Given the description of an element on the screen output the (x, y) to click on. 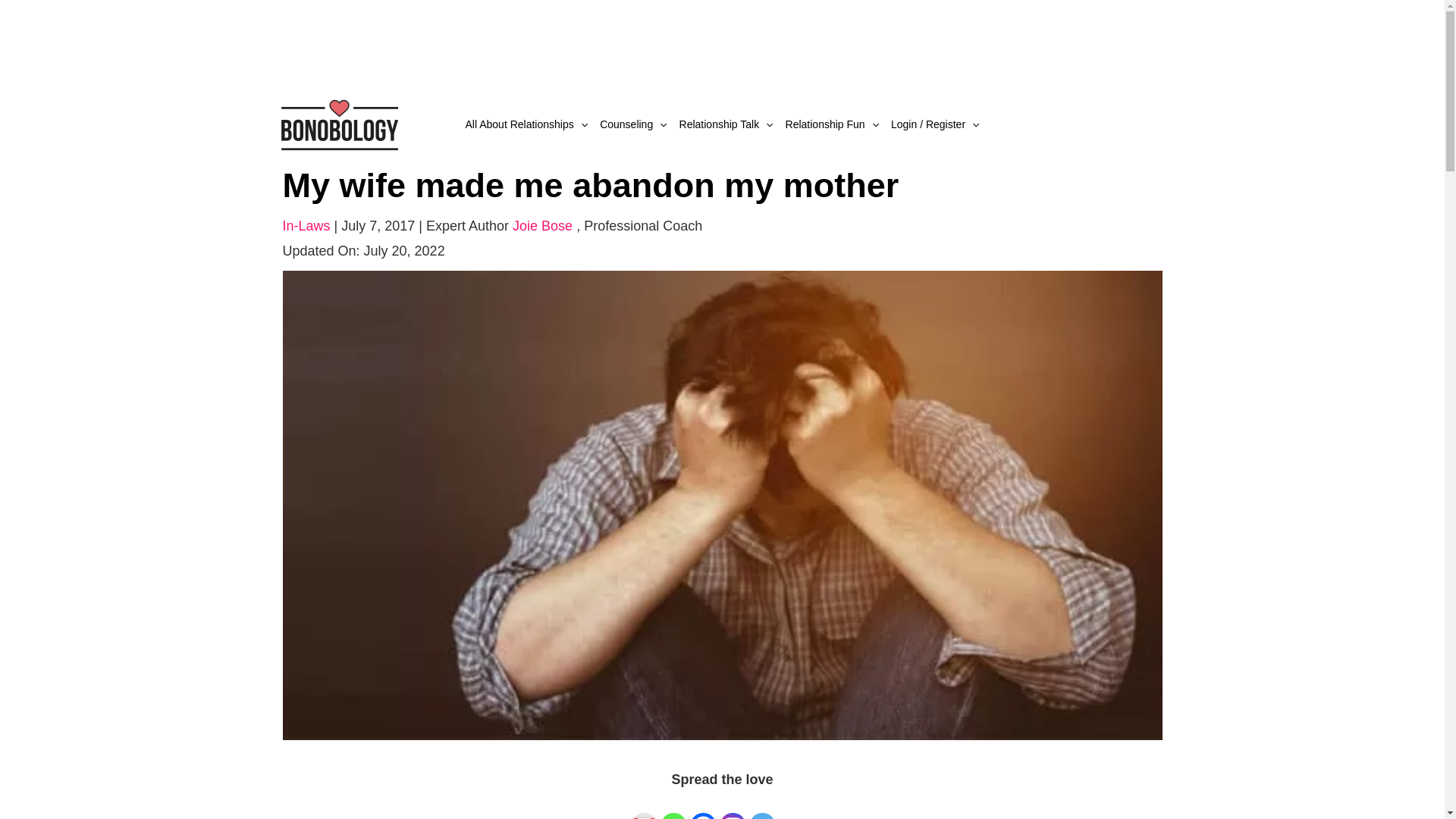
Facebook (703, 806)
Twitter (762, 806)
Instagram (732, 806)
Google Gmail (644, 806)
Whatsapp (674, 806)
All About Relationships (527, 124)
depressed man (721, 503)
cropped-cropped-Bonobology-2.png (339, 123)
Editor Info (642, 225)
